Given the description of an element on the screen output the (x, y) to click on. 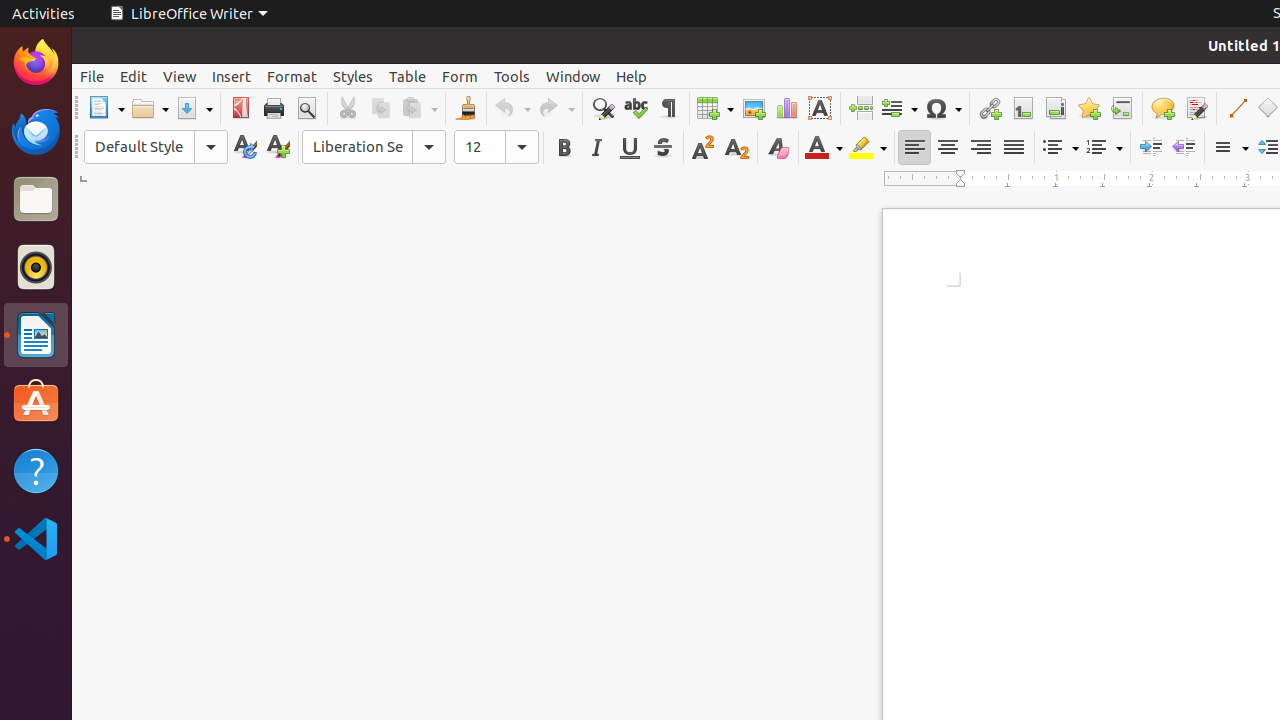
Thunderbird Mail Element type: push-button (36, 131)
Copy Element type: push-button (380, 108)
Field Element type: push-button (899, 108)
Bold Element type: toggle-button (563, 147)
Clone Element type: push-button (465, 108)
